Given the description of an element on the screen output the (x, y) to click on. 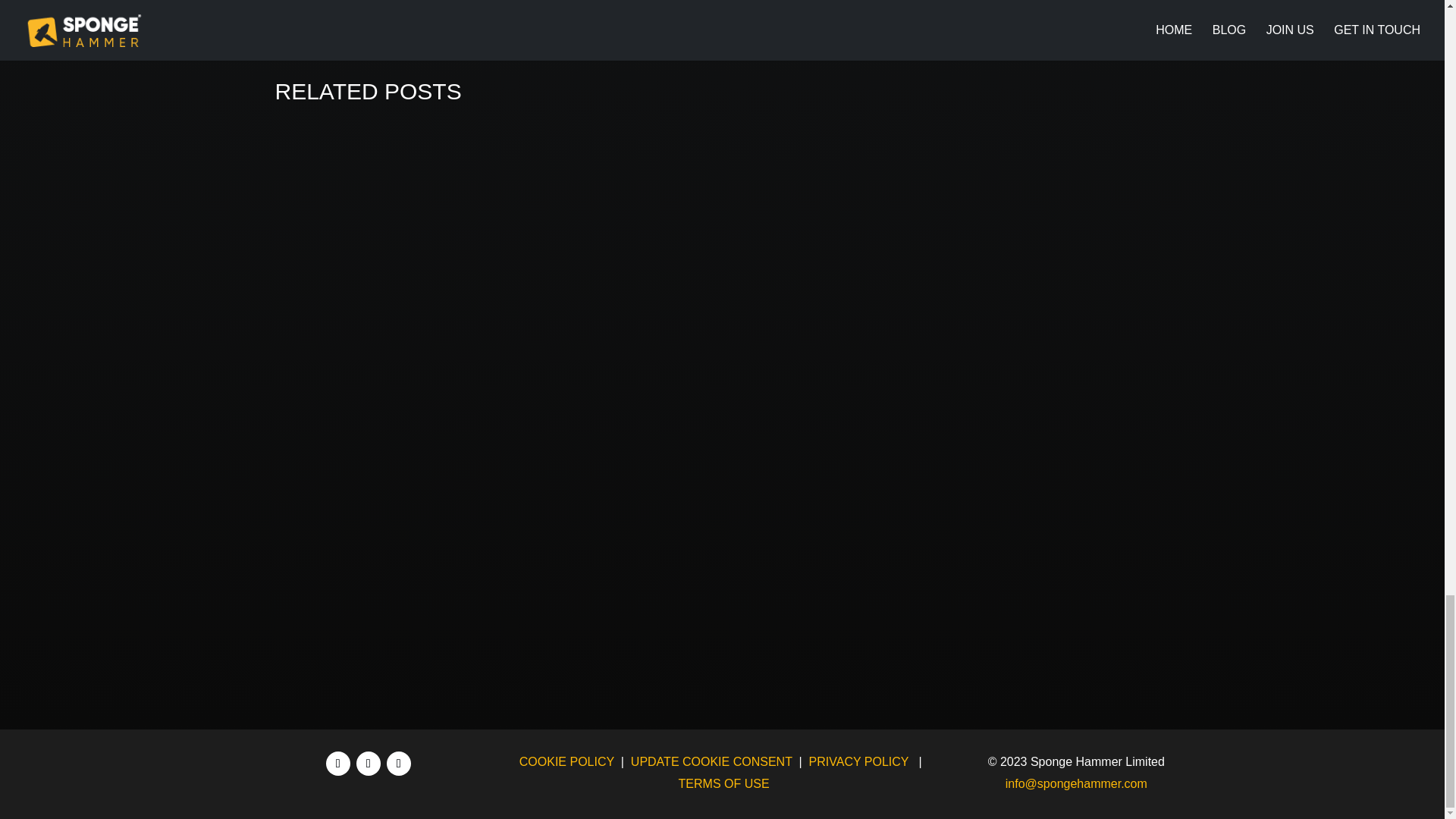
Follow on LinkedIn (338, 763)
Follow on Instagram (398, 763)
Follow on Facebook (368, 763)
